Given the description of an element on the screen output the (x, y) to click on. 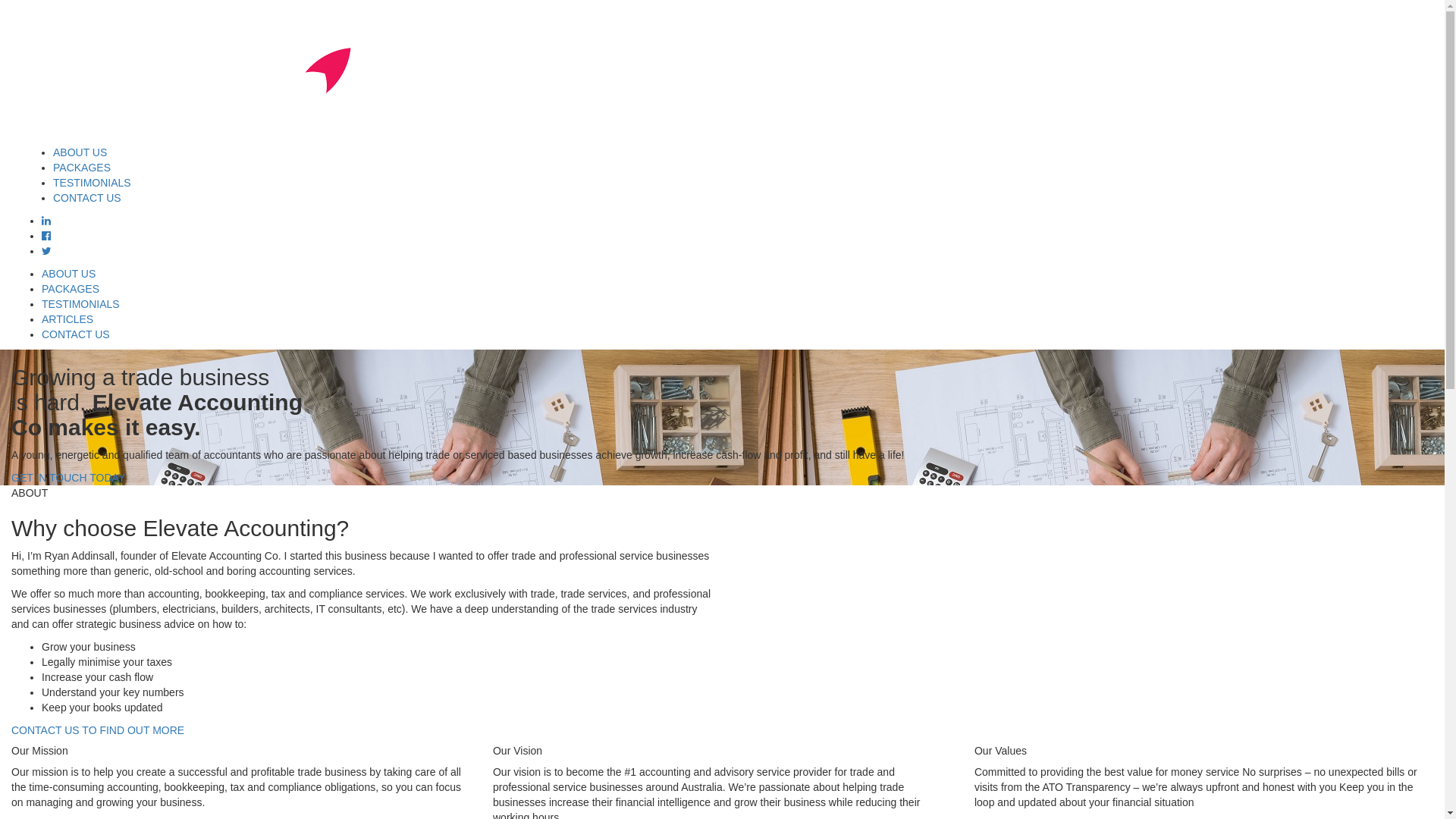
CONTACT US Element type: text (87, 197)
GET IN TOUCH TODAY Element type: text (68, 477)
ABOUT US Element type: text (68, 273)
ARTICLES Element type: text (67, 319)
PACKAGES Element type: text (70, 288)
TESTIMONIALS Element type: text (92, 182)
PACKAGES Element type: text (81, 167)
CONTACT US Element type: text (75, 334)
CONTACT US TO FIND OUT MORE Element type: text (97, 730)
ABOUT US Element type: text (79, 152)
TESTIMONIALS Element type: text (80, 304)
